Given the description of an element on the screen output the (x, y) to click on. 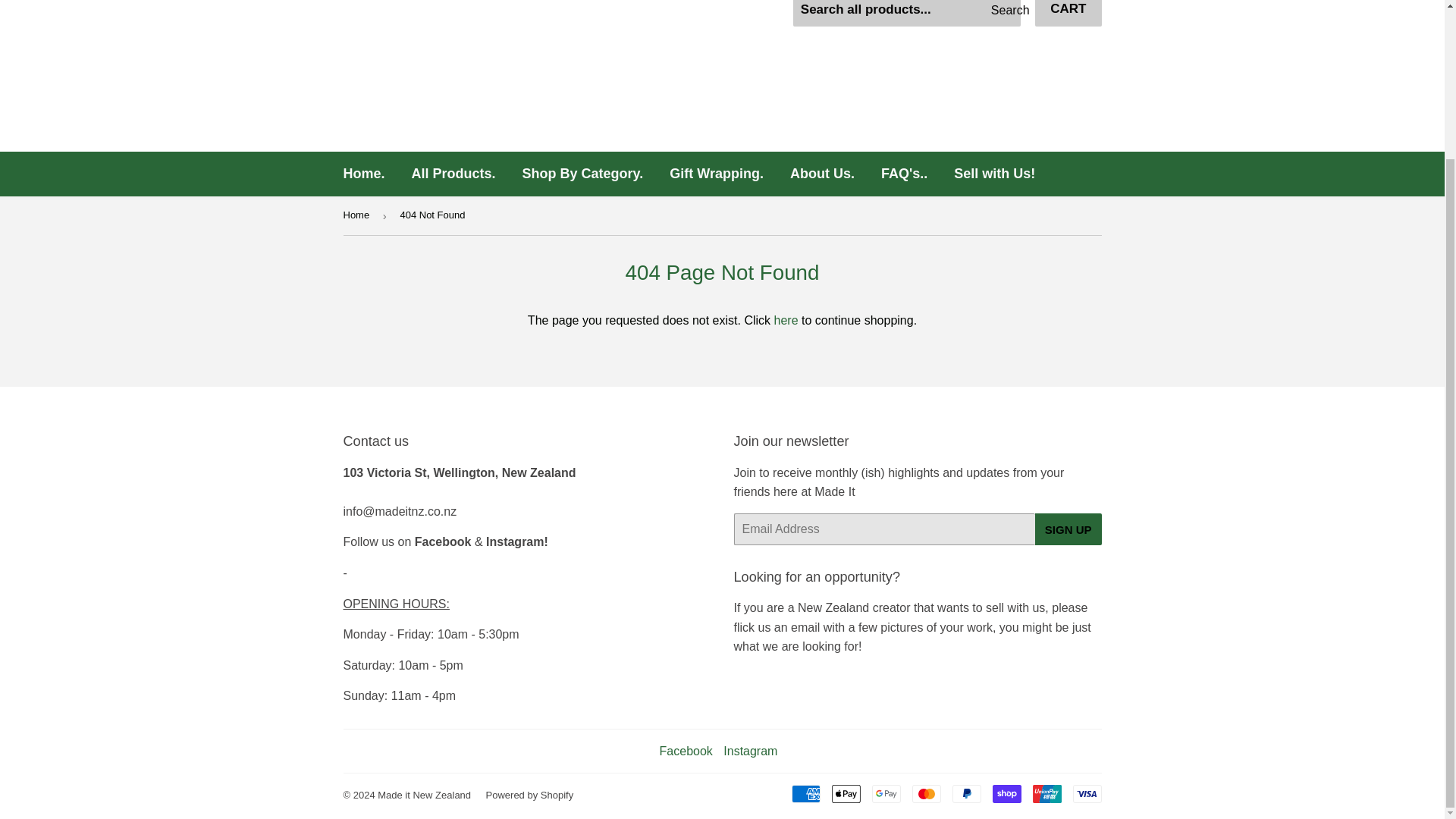
Visa (1085, 793)
American Express (806, 793)
All Products. (453, 173)
Sell with Us! (994, 173)
Made it New Zealand (423, 794)
Union Pay (1046, 793)
Made it New Zealand on Facebook (686, 750)
CART (1067, 13)
Shop Pay (1005, 793)
Search (1003, 13)
